Given the description of an element on the screen output the (x, y) to click on. 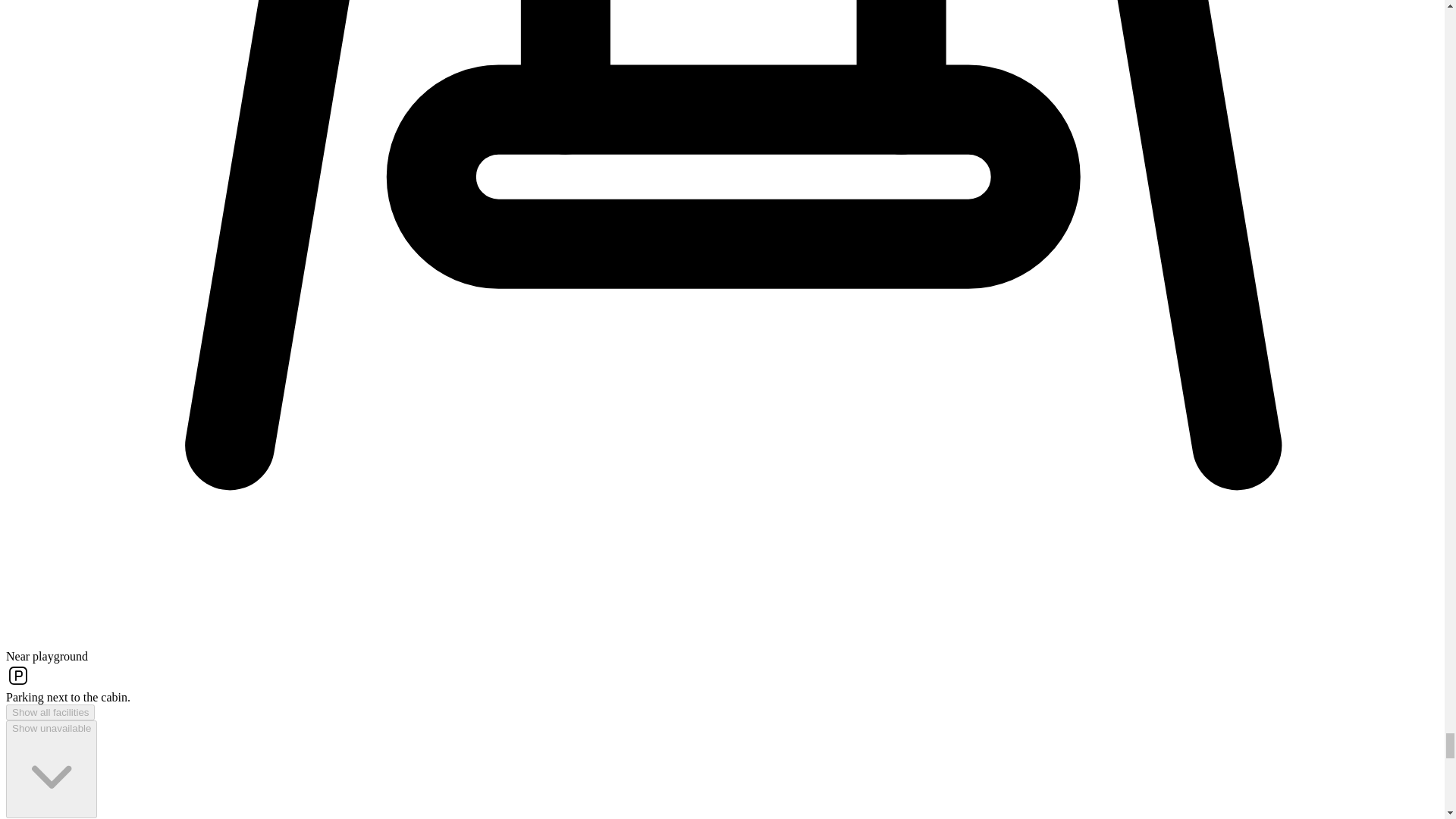
Show all facilities (49, 712)
Show unavailable (51, 768)
